Given the description of an element on the screen output the (x, y) to click on. 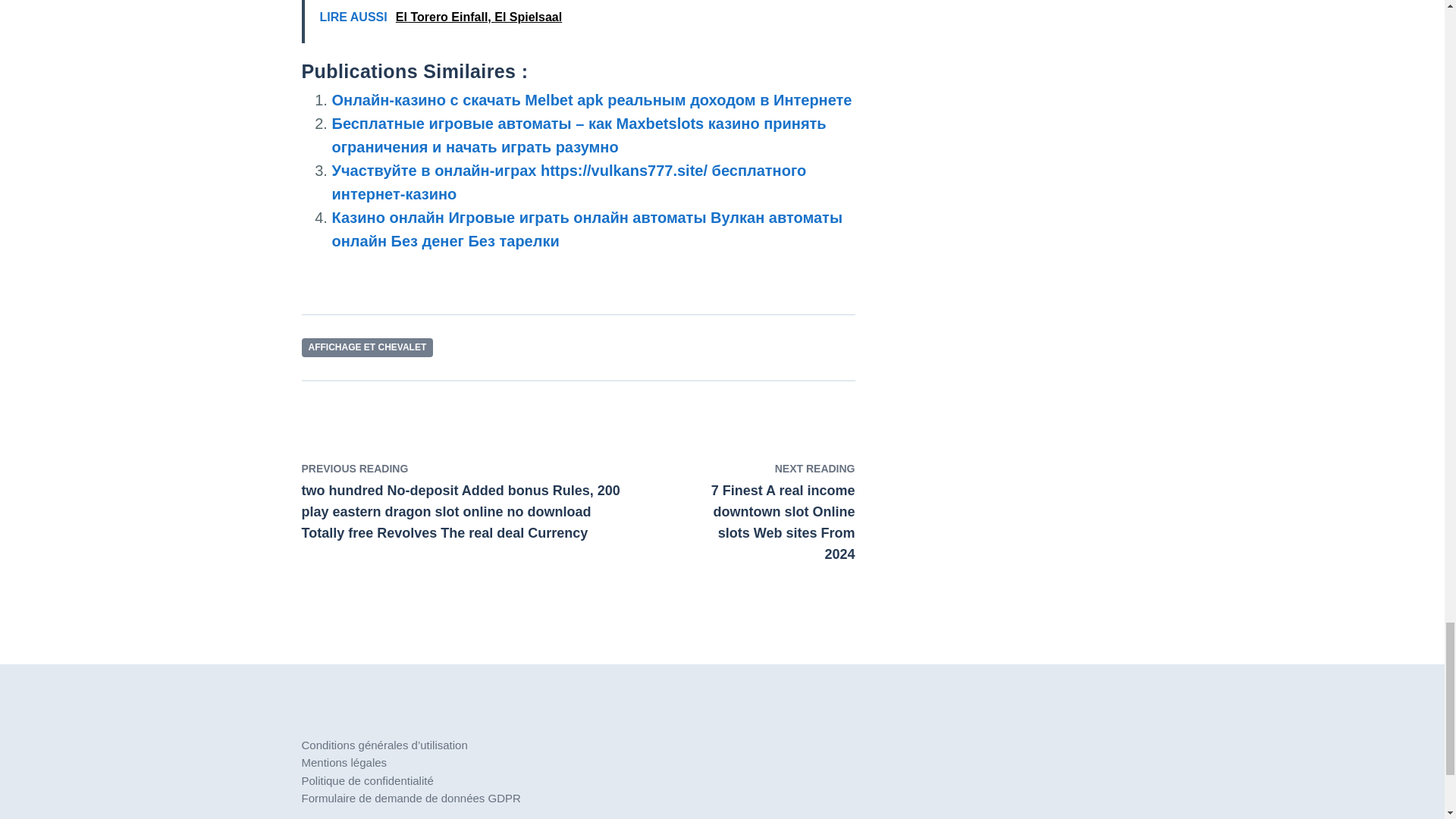
AFFICHAGE ET CHEVALET (367, 347)
LIRE AUSSI  El Torero Einfall, El Spielsaal (578, 21)
